Given the description of an element on the screen output the (x, y) to click on. 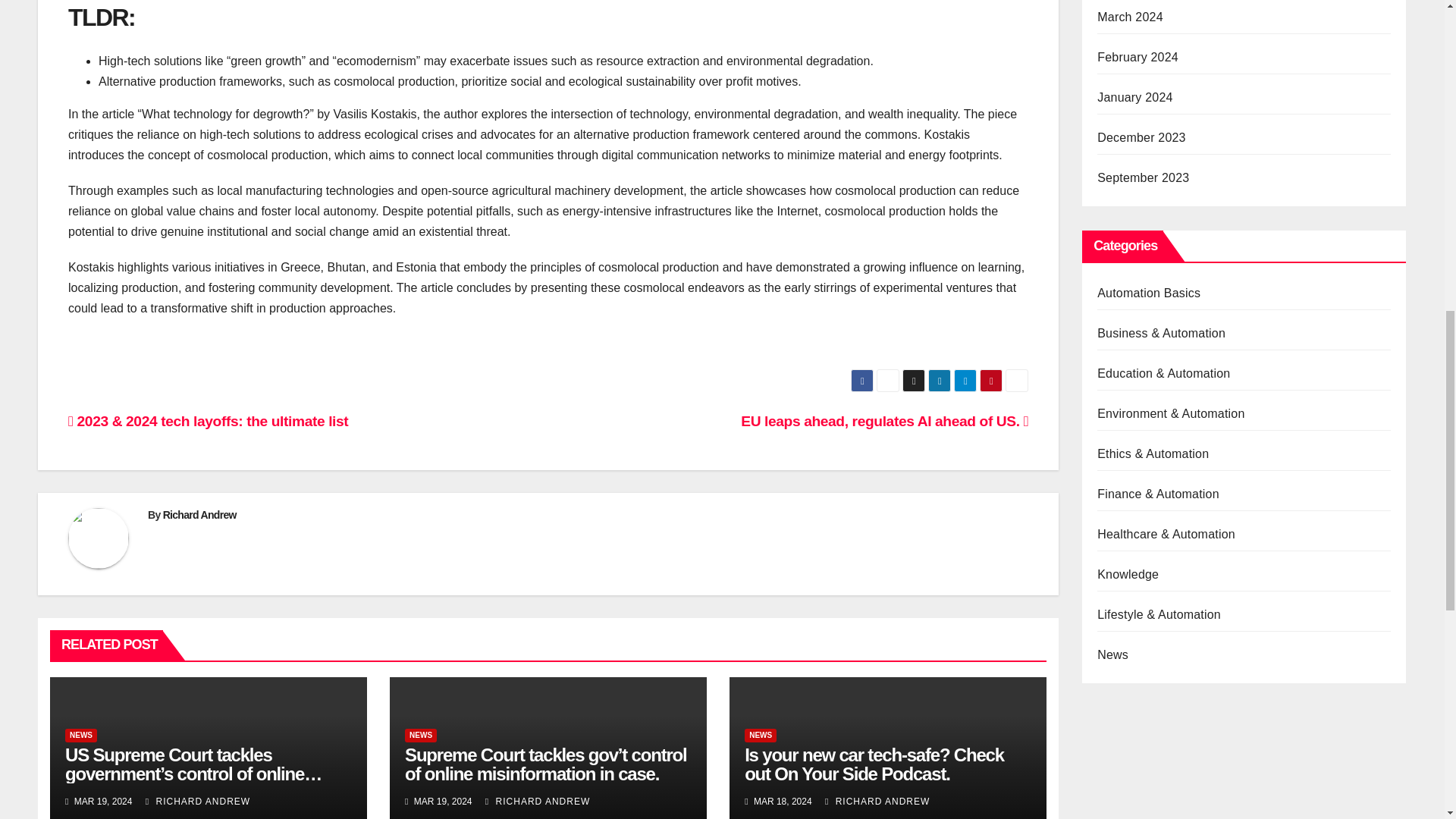
Is your new car tech-safe? Check out On Your Side Podcast. (874, 763)
RICHARD ANDREW (536, 801)
EU leaps ahead, regulates AI ahead of US. (884, 421)
NEWS (420, 735)
Richard Andrew (199, 514)
NEWS (81, 735)
RICHARD ANDREW (877, 801)
NEWS (760, 735)
RICHARD ANDREW (197, 801)
